Given the description of an element on the screen output the (x, y) to click on. 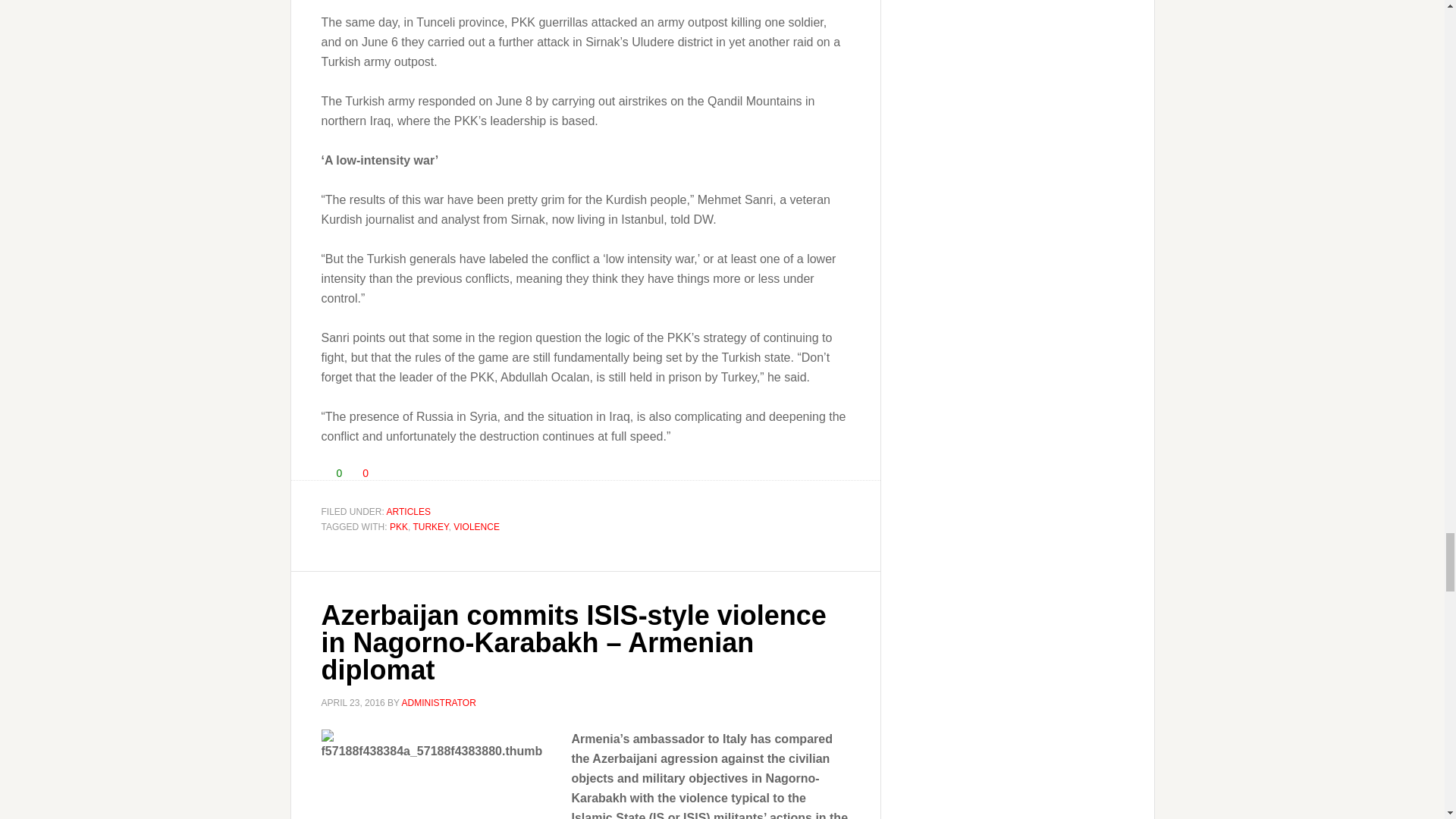
Like (326, 472)
Unlike (352, 472)
